Given the description of an element on the screen output the (x, y) to click on. 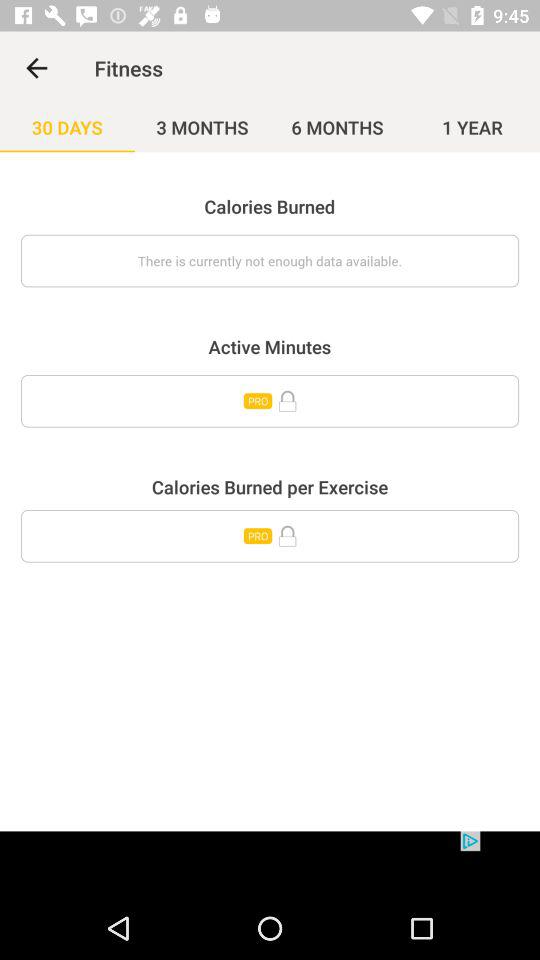
press the item above calories burned per icon (269, 401)
